Given the description of an element on the screen output the (x, y) to click on. 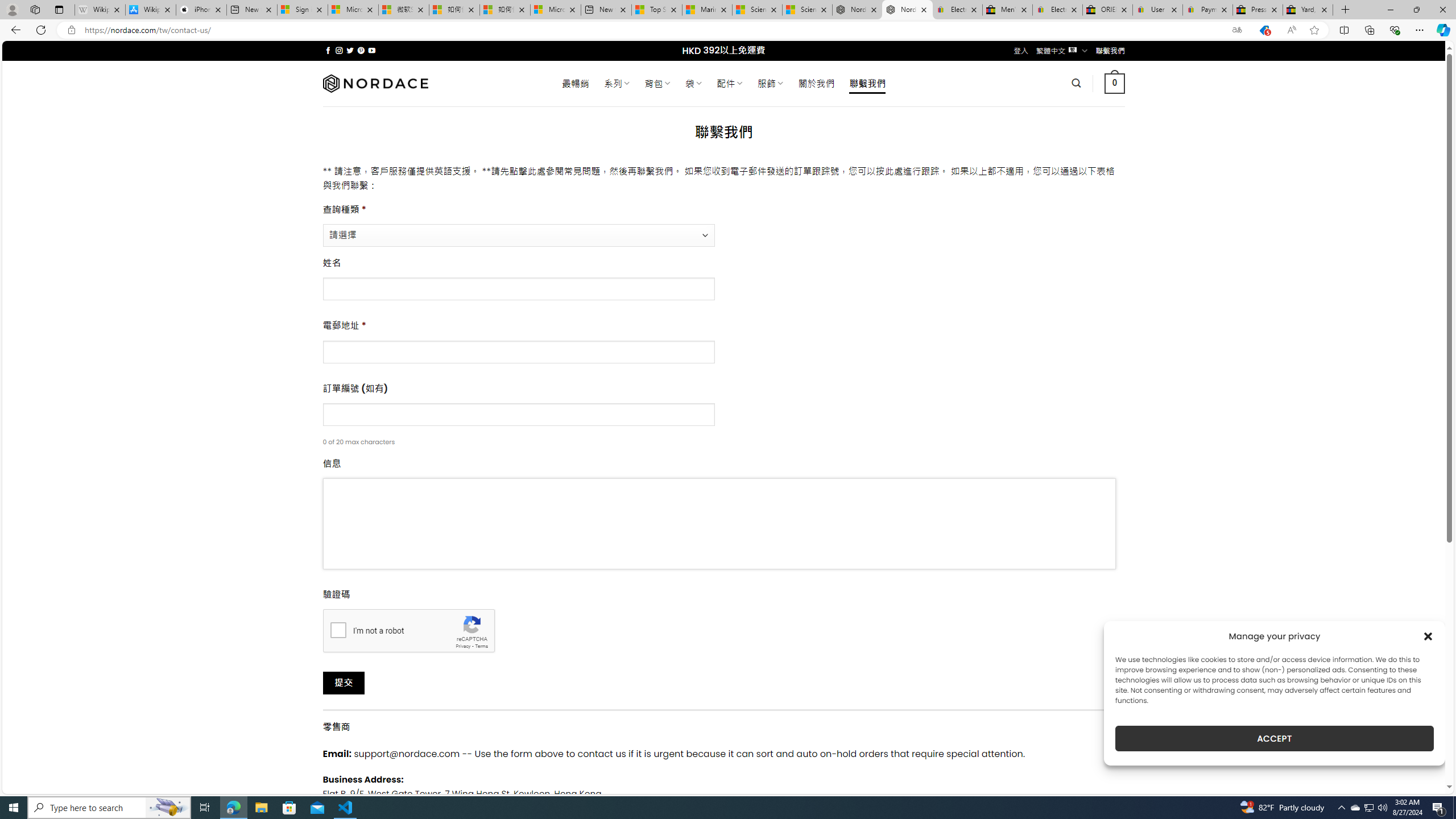
Press Room - eBay Inc. (1257, 9)
This site has coupons! Shopping in Microsoft Edge, 5 (1263, 29)
Marine life - MSN (706, 9)
ACCEPT (1274, 738)
